Given the description of an element on the screen output the (x, y) to click on. 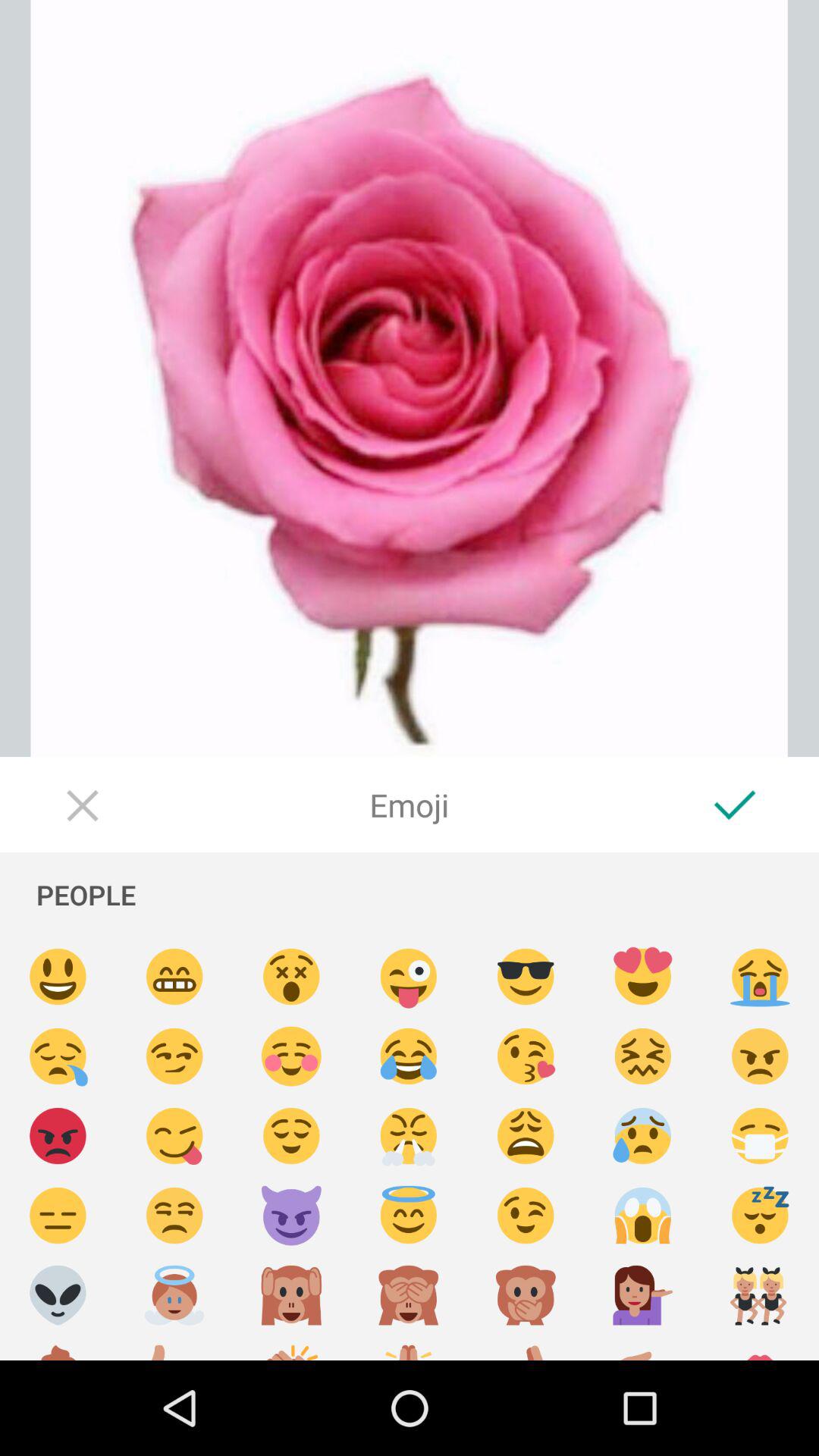
sad sniffle emoji (58, 1056)
